Given the description of an element on the screen output the (x, y) to click on. 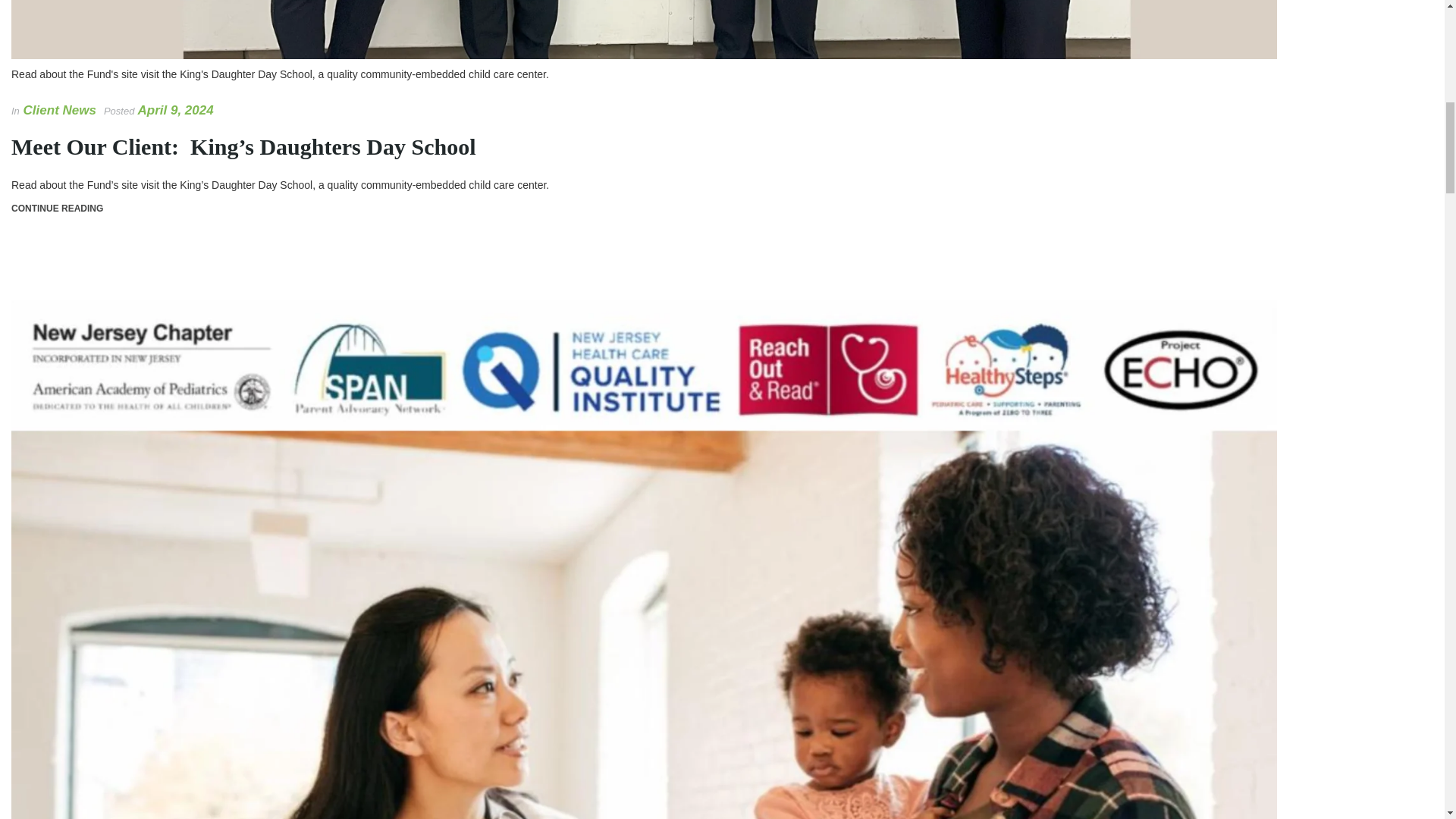
April 9, 2024 (176, 110)
CONTINUE READING (57, 208)
Client News (59, 110)
